Given the description of an element on the screen output the (x, y) to click on. 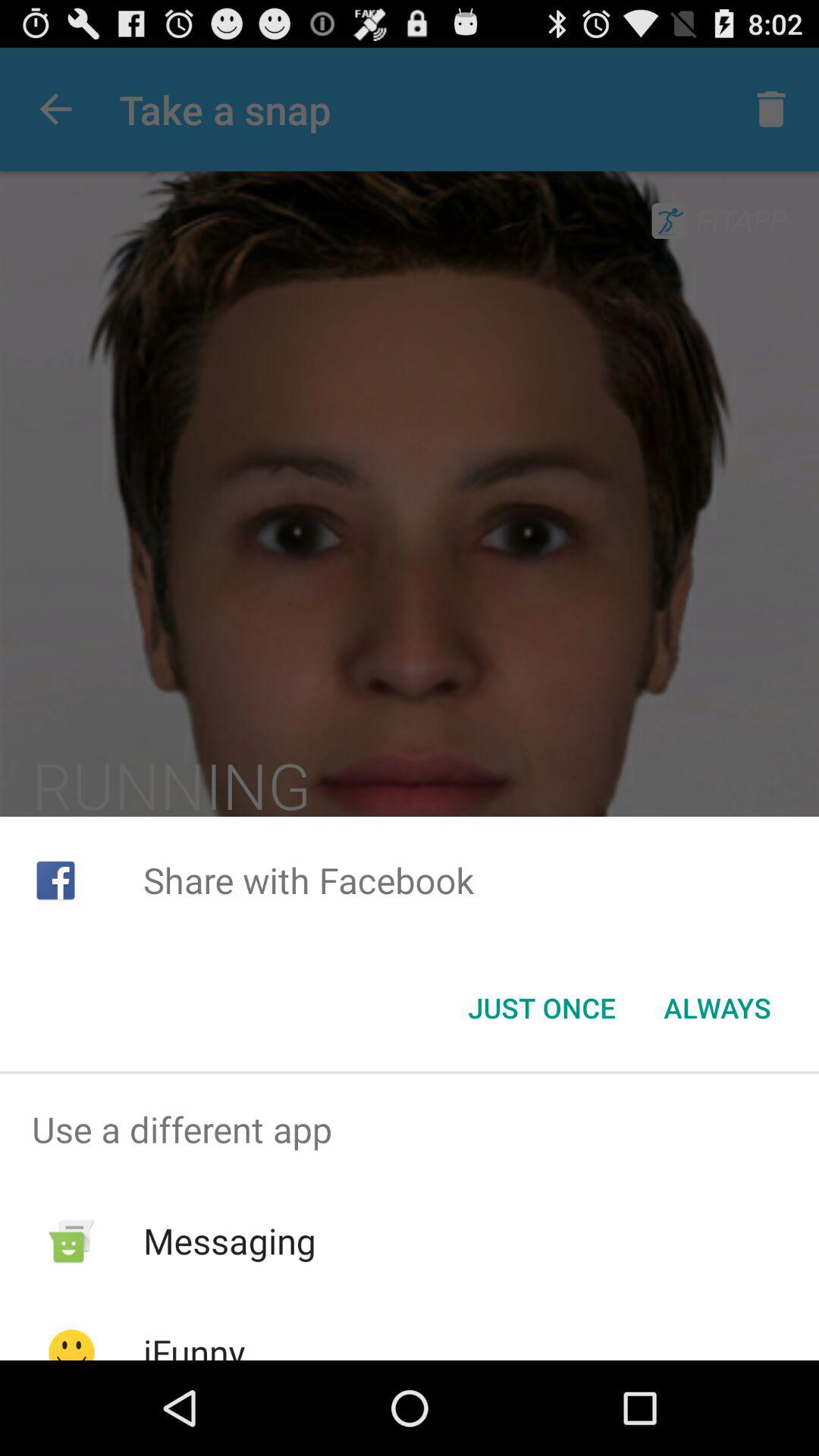
swipe until messaging app (229, 1240)
